Given the description of an element on the screen output the (x, y) to click on. 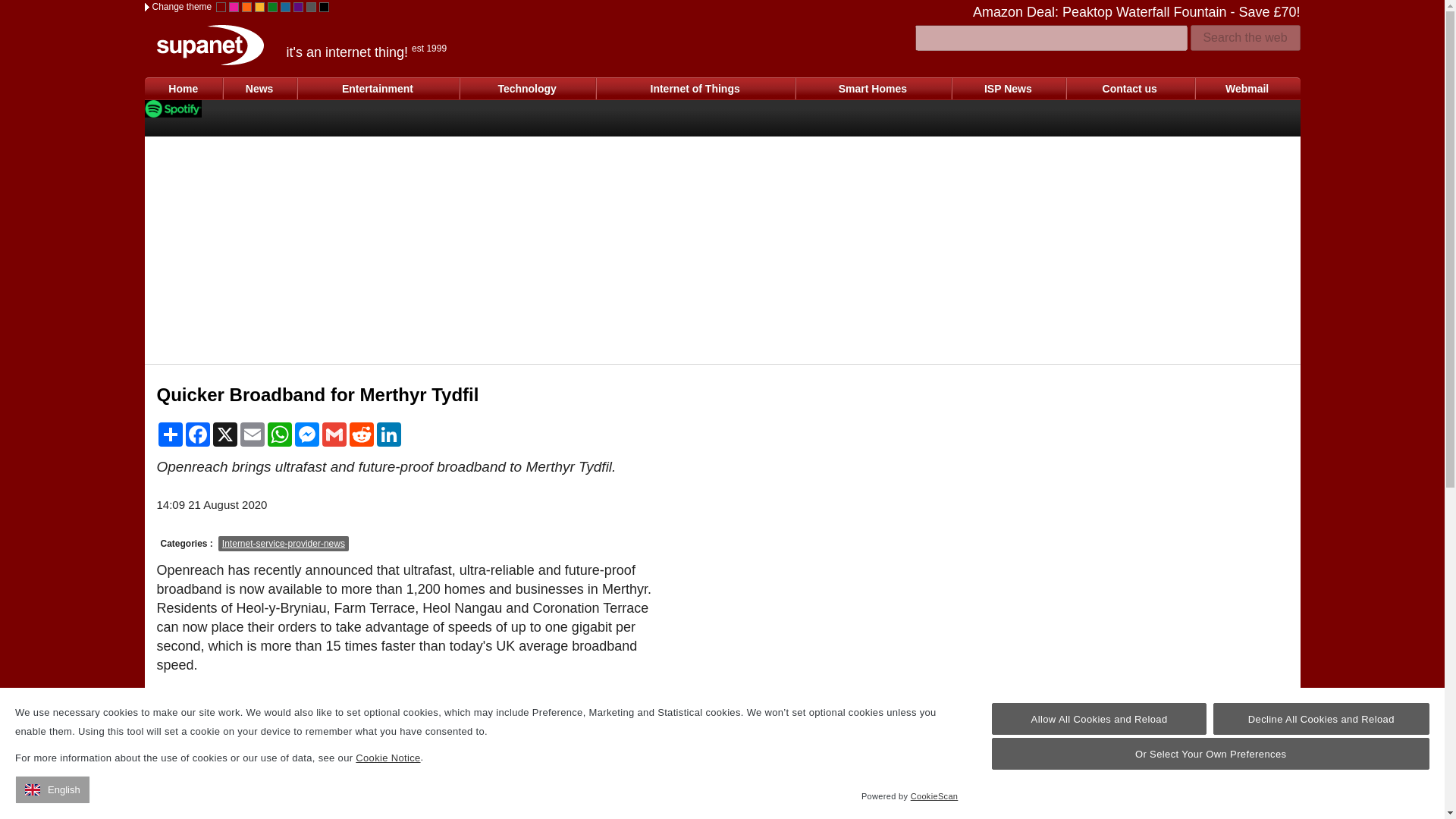
Technology (526, 88)
Search the web (1245, 37)
Supanet (209, 45)
Search the web (1245, 37)
Search the web (1245, 37)
Internet of Things (694, 88)
Entertainment (377, 88)
Webmail (1246, 88)
Home (183, 88)
Contact us (1129, 88)
